Given the description of an element on the screen output the (x, y) to click on. 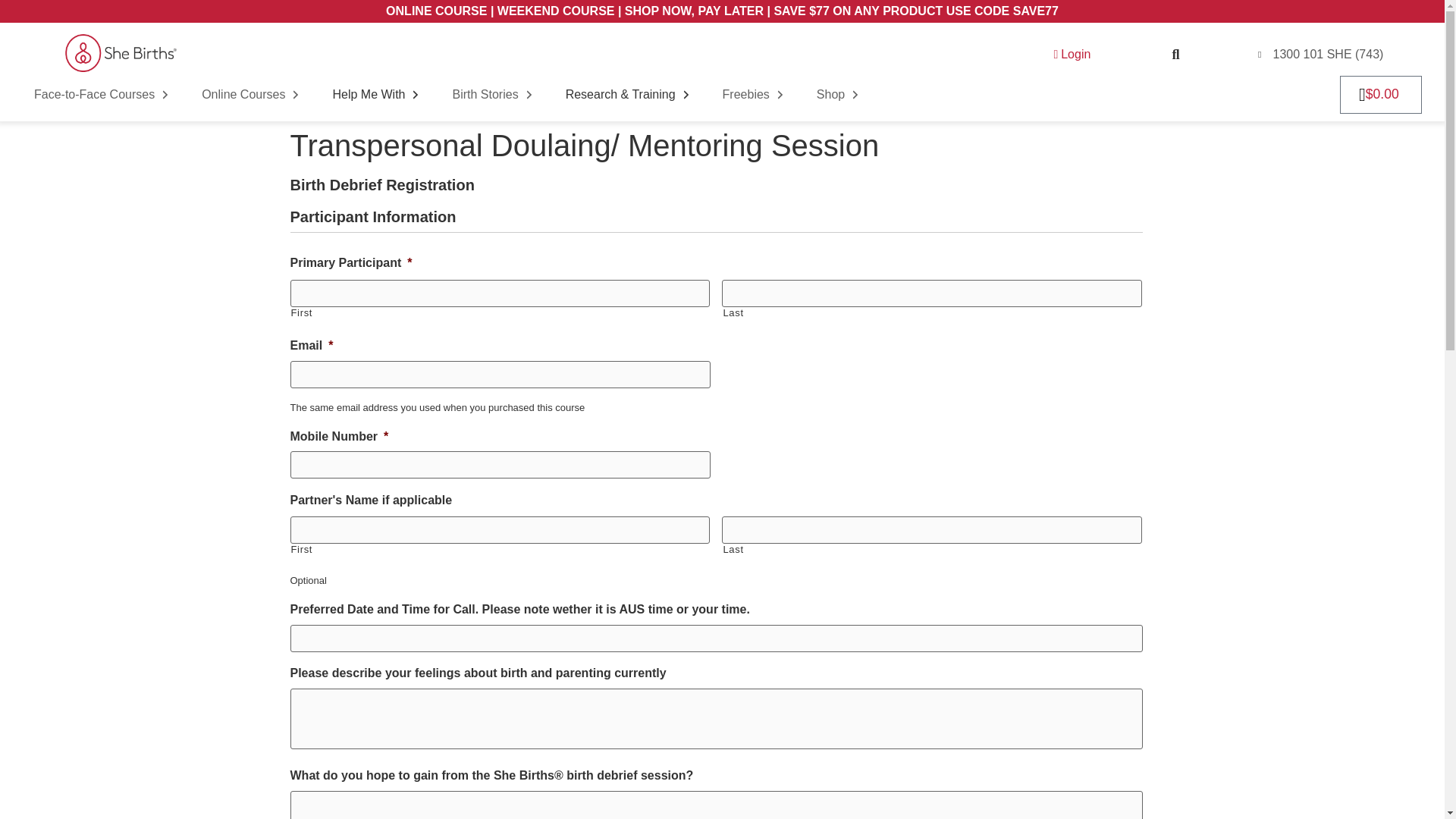
Login (1071, 53)
Online Courses (251, 94)
Login (1071, 53)
Face-to-Face Courses (103, 94)
Birth Stories (493, 94)
Freebies (754, 94)
Help Me With (376, 94)
